Given the description of an element on the screen output the (x, y) to click on. 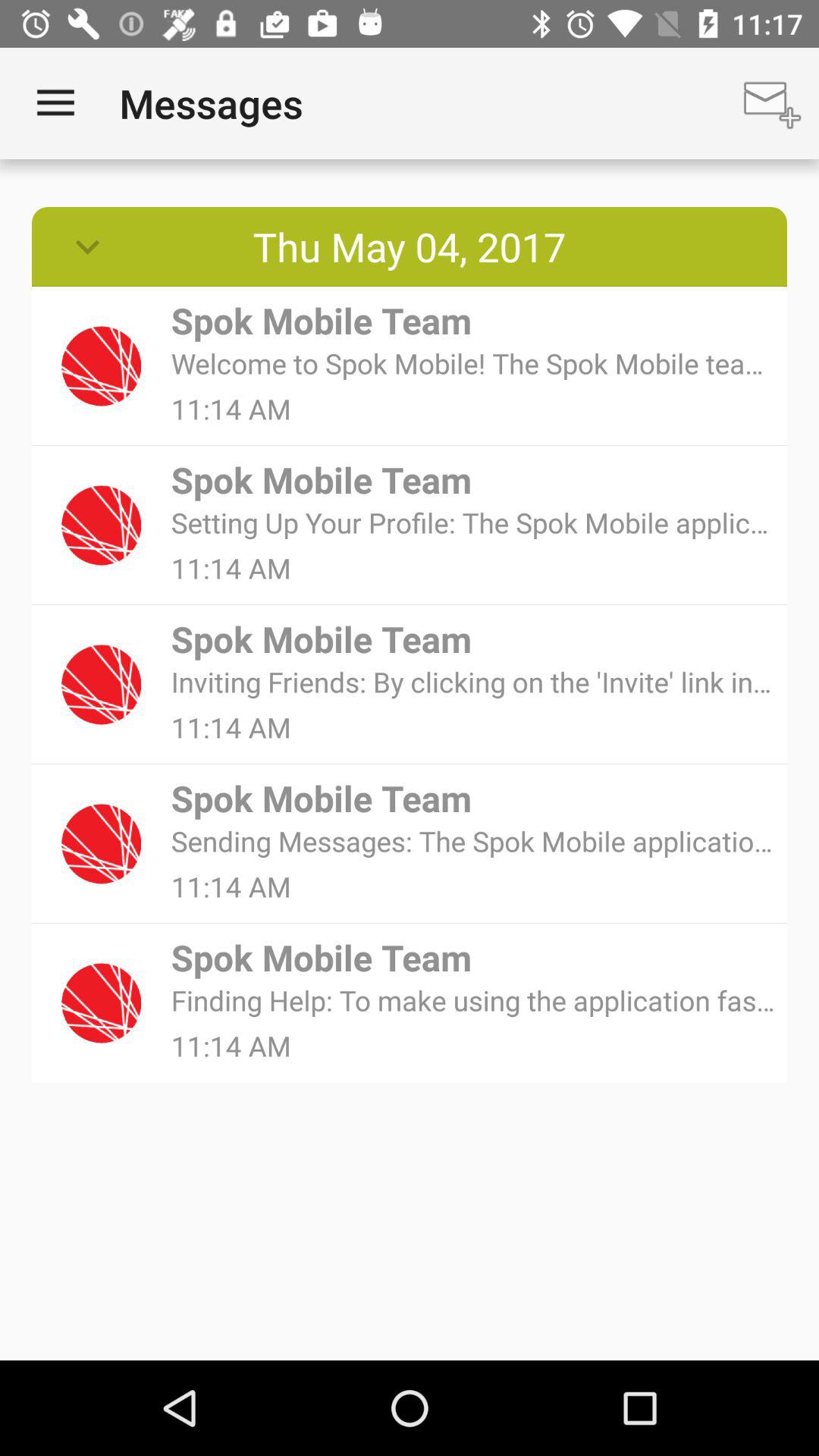
flip until setting up your icon (473, 522)
